Given the description of an element on the screen output the (x, y) to click on. 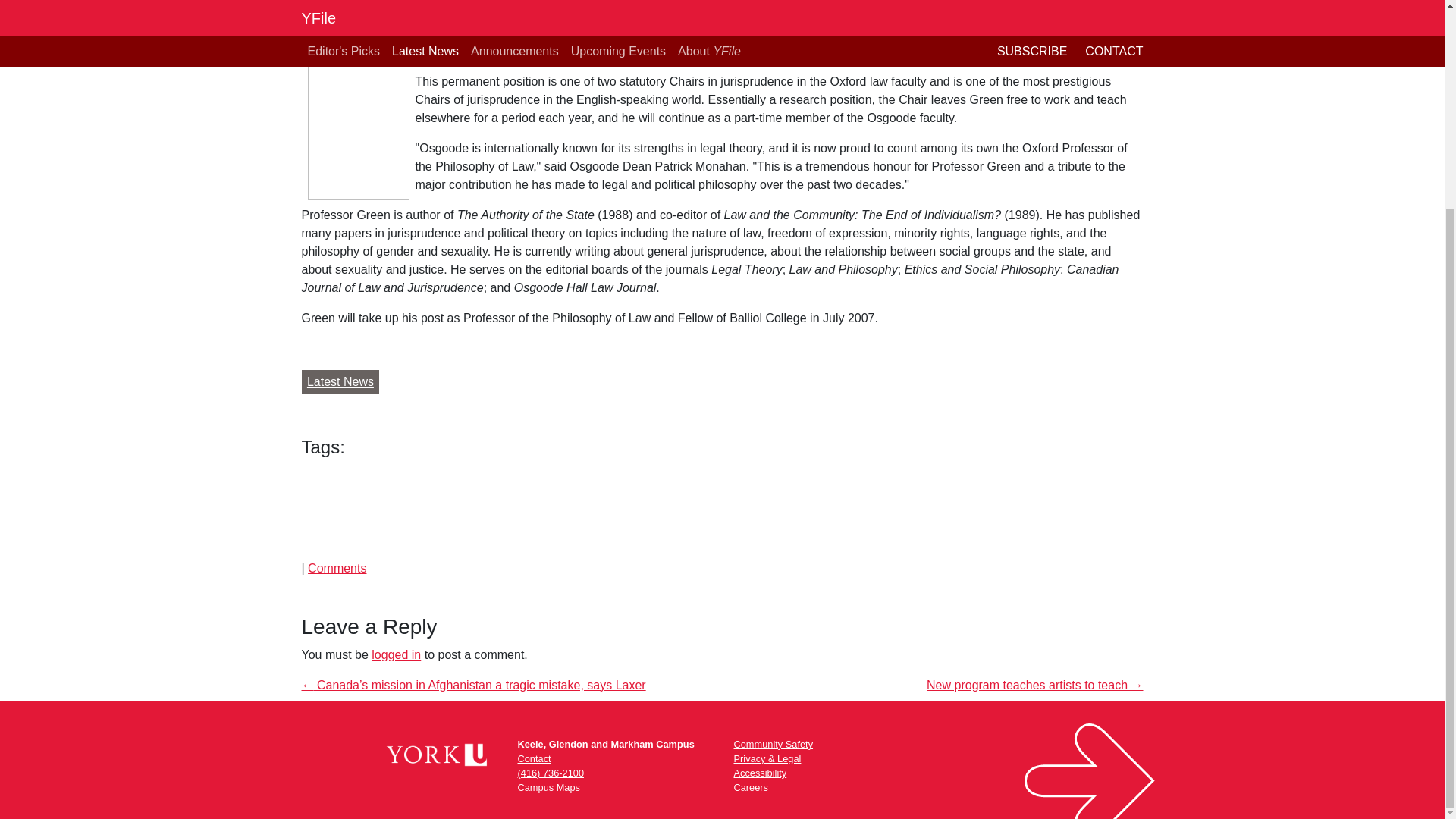
logged in (395, 654)
Comments (336, 567)
Contact (533, 758)
Share (408, 509)
Facebook (316, 509)
Latest News (340, 381)
Email (377, 509)
Twitter (346, 509)
Facebook (316, 509)
Twitter (346, 509)
